Given the description of an element on the screen output the (x, y) to click on. 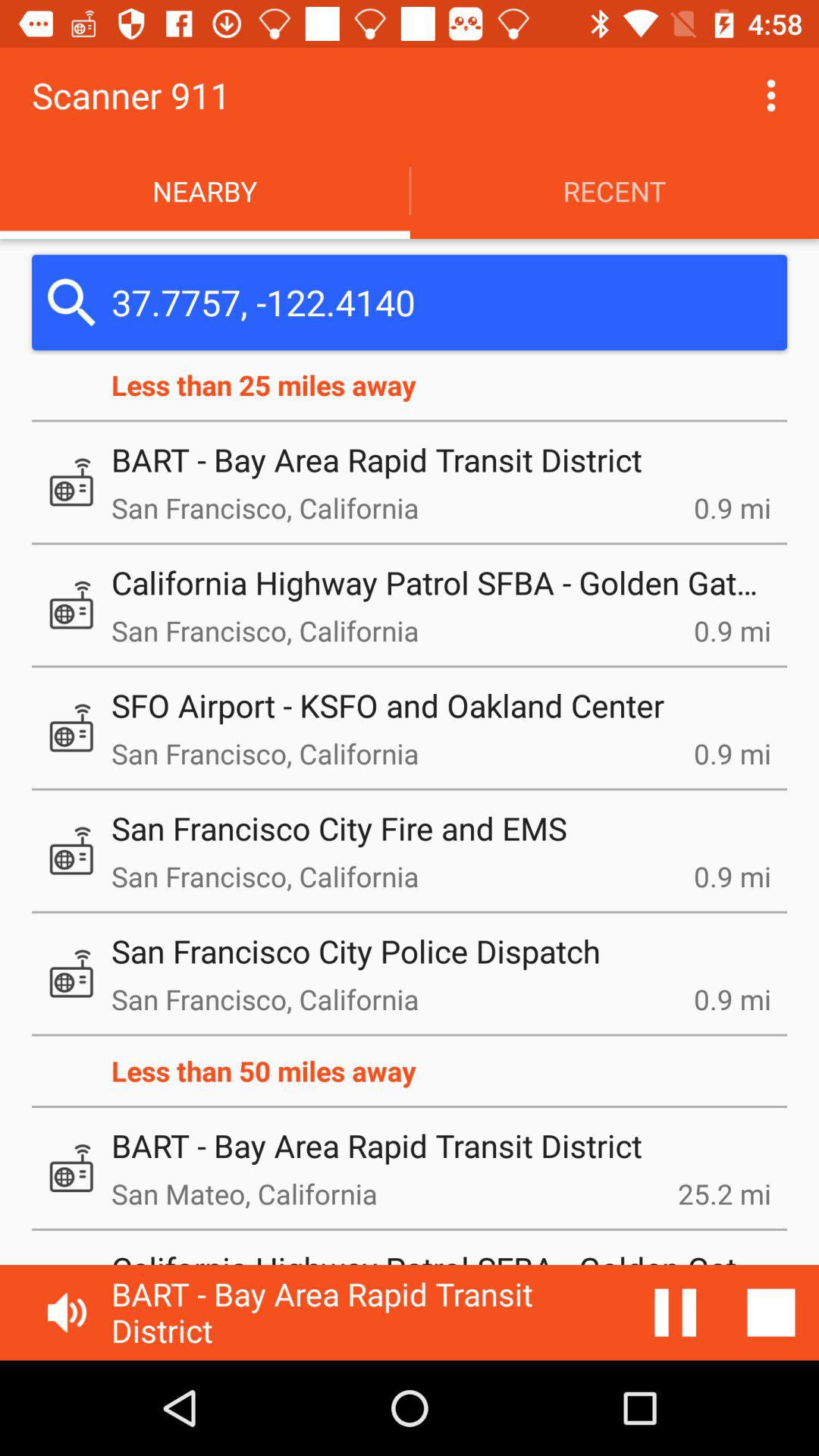
stop option (771, 1312)
